Given the description of an element on the screen output the (x, y) to click on. 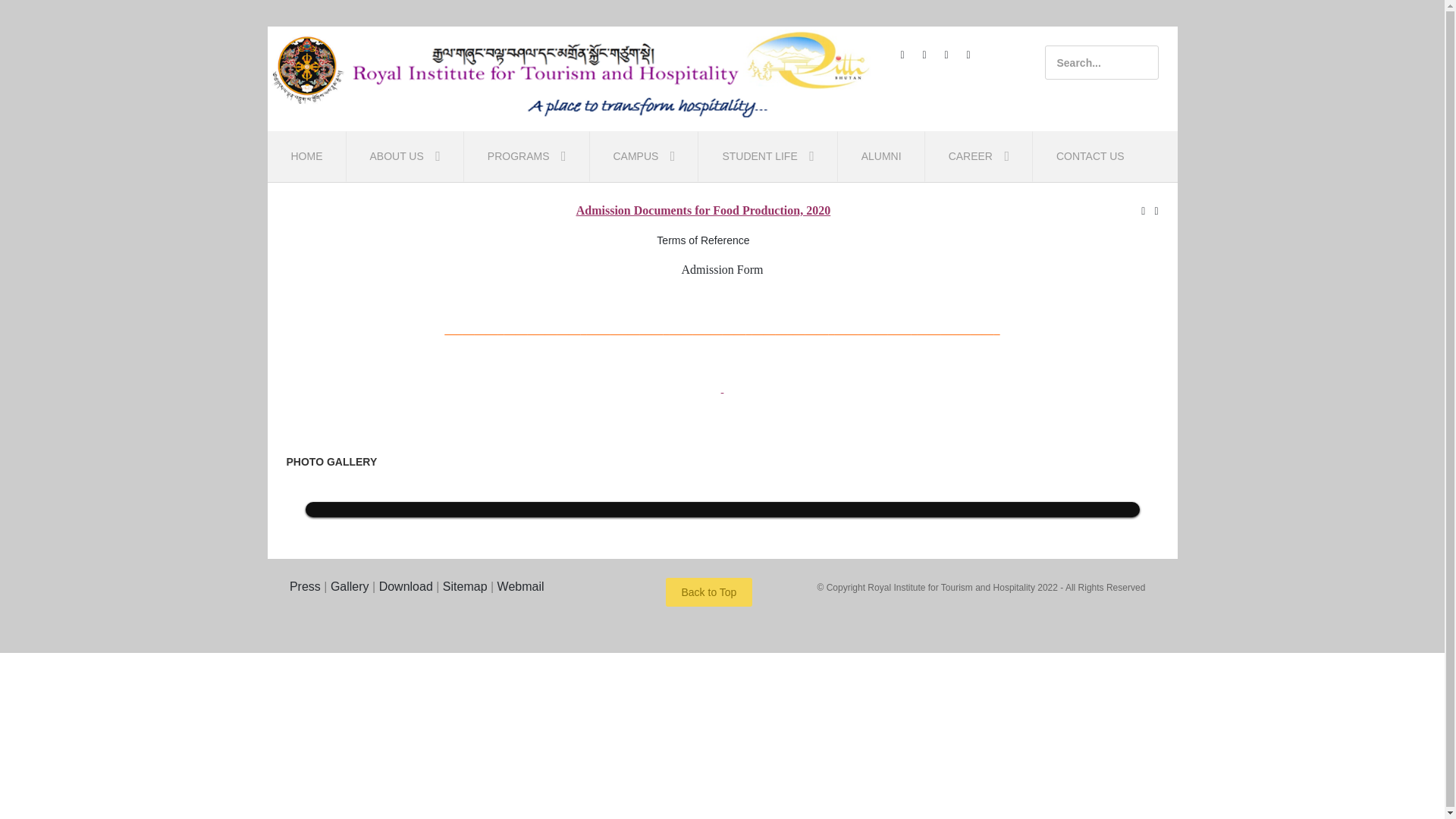
Gallery Element type: text (349, 586)
CAMPUS Element type: text (643, 156)
 Press Element type: text (303, 586)
ALUMNI Element type: text (881, 156)
CAREER Element type: text (978, 156)
HOME Element type: text (306, 156)
PROGRAMS Element type: text (526, 156)
CONTACT US Element type: text (1090, 156)
Webmail Element type: text (520, 586)
Sitemap Element type: text (464, 586)
Email Element type: hover (1155, 210)
Terms of Reference Element type: text (702, 240)
STUDENT LIFE Element type: text (767, 156)
Print Element type: hover (1143, 210)
Download Element type: text (406, 586)
ABOUT US Element type: text (405, 156)
Back to Top Element type: text (709, 591)
Admission Form Element type: text (721, 269)
